Given the description of an element on the screen output the (x, y) to click on. 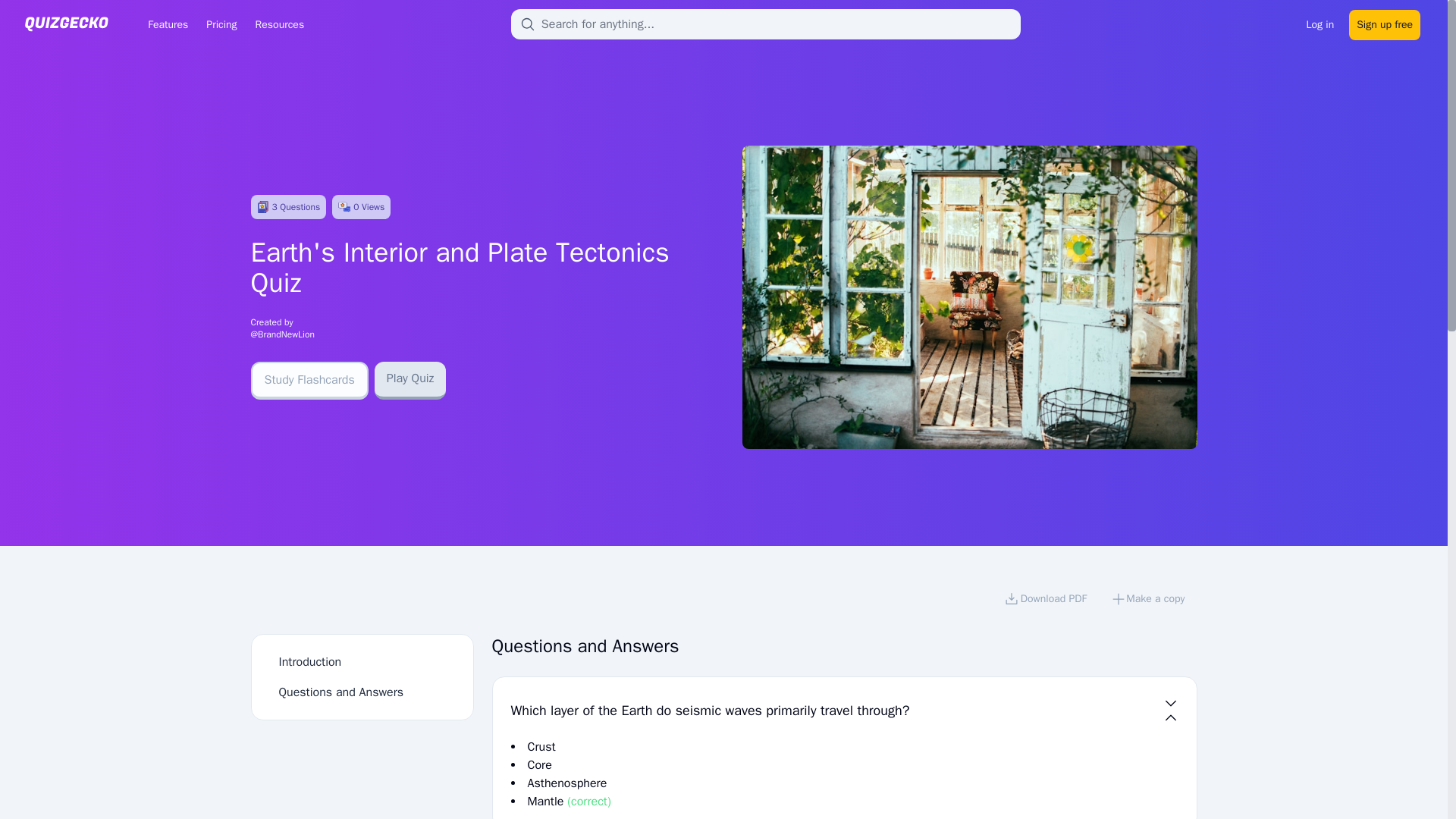
Make a copy (1147, 600)
Play Quiz (410, 380)
Features (167, 23)
Questions and Answers (341, 692)
Sign up free (1384, 23)
Introduction (310, 661)
Study Flashcards (309, 380)
Download PDF (1045, 600)
Pricing (221, 23)
Log in (1320, 23)
